Given the description of an element on the screen output the (x, y) to click on. 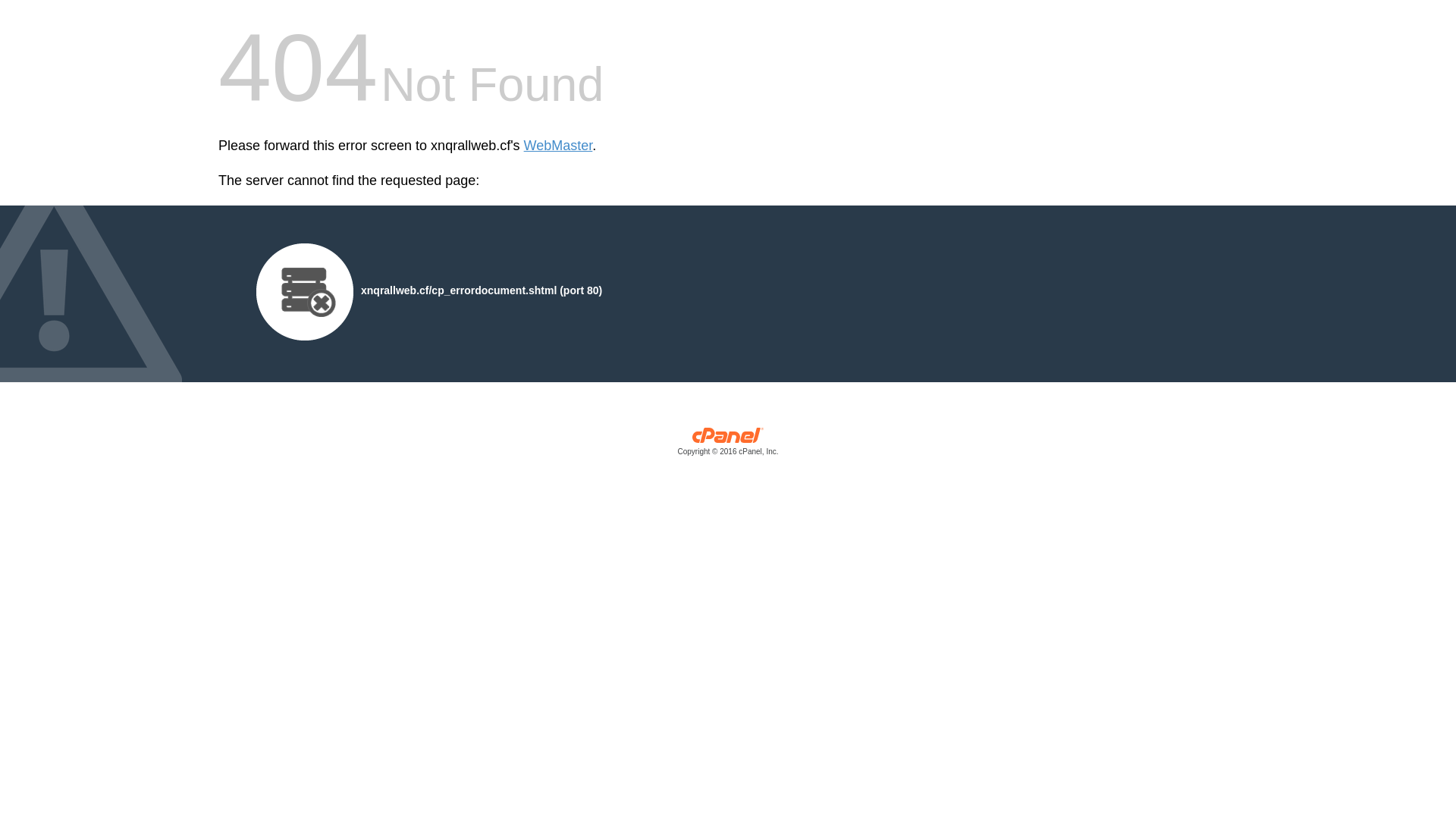
WebMaster Element type: text (558, 145)
